Given the description of an element on the screen output the (x, y) to click on. 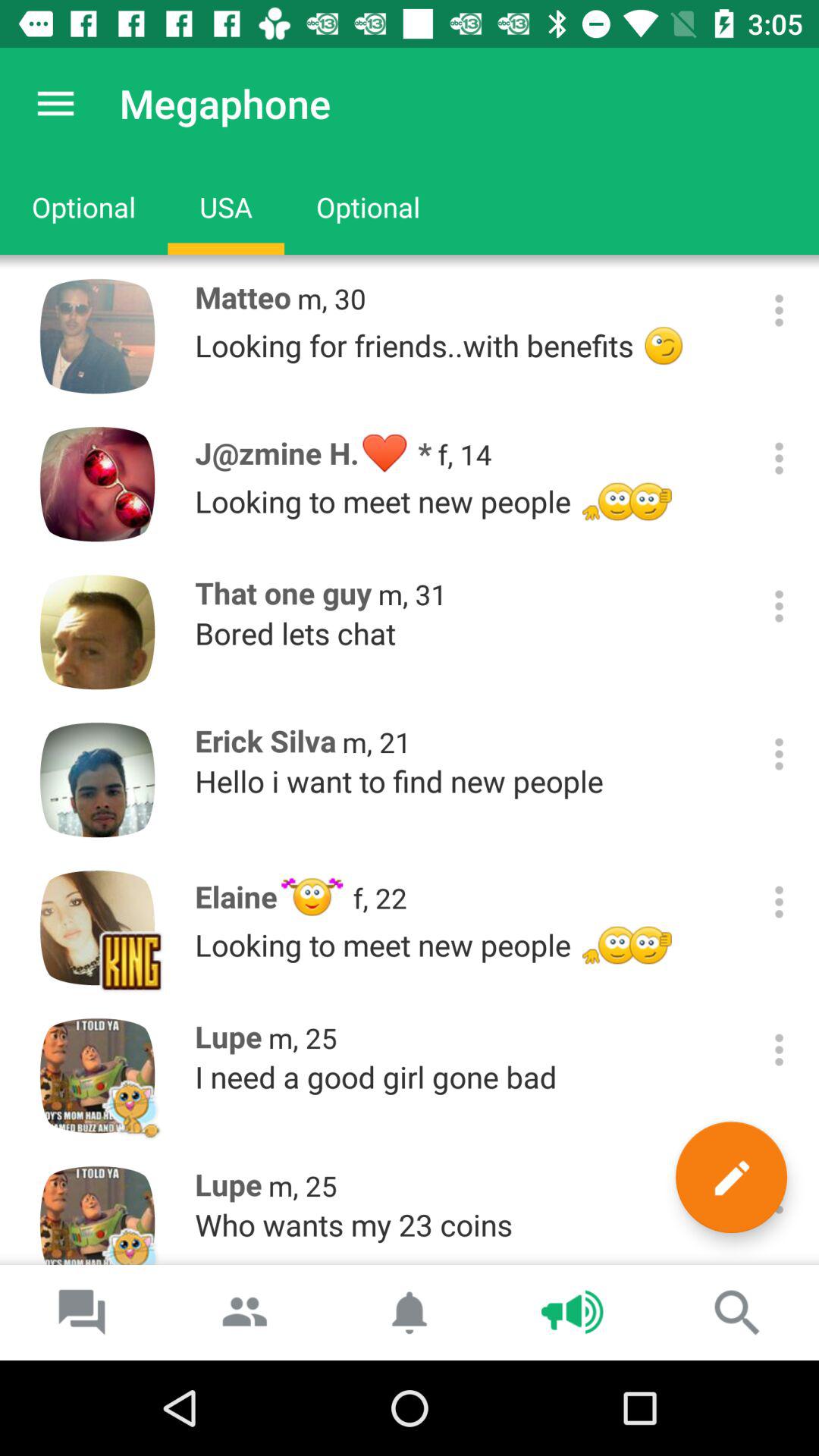
click here to get more information about the individual listed (779, 606)
